Given the description of an element on the screen output the (x, y) to click on. 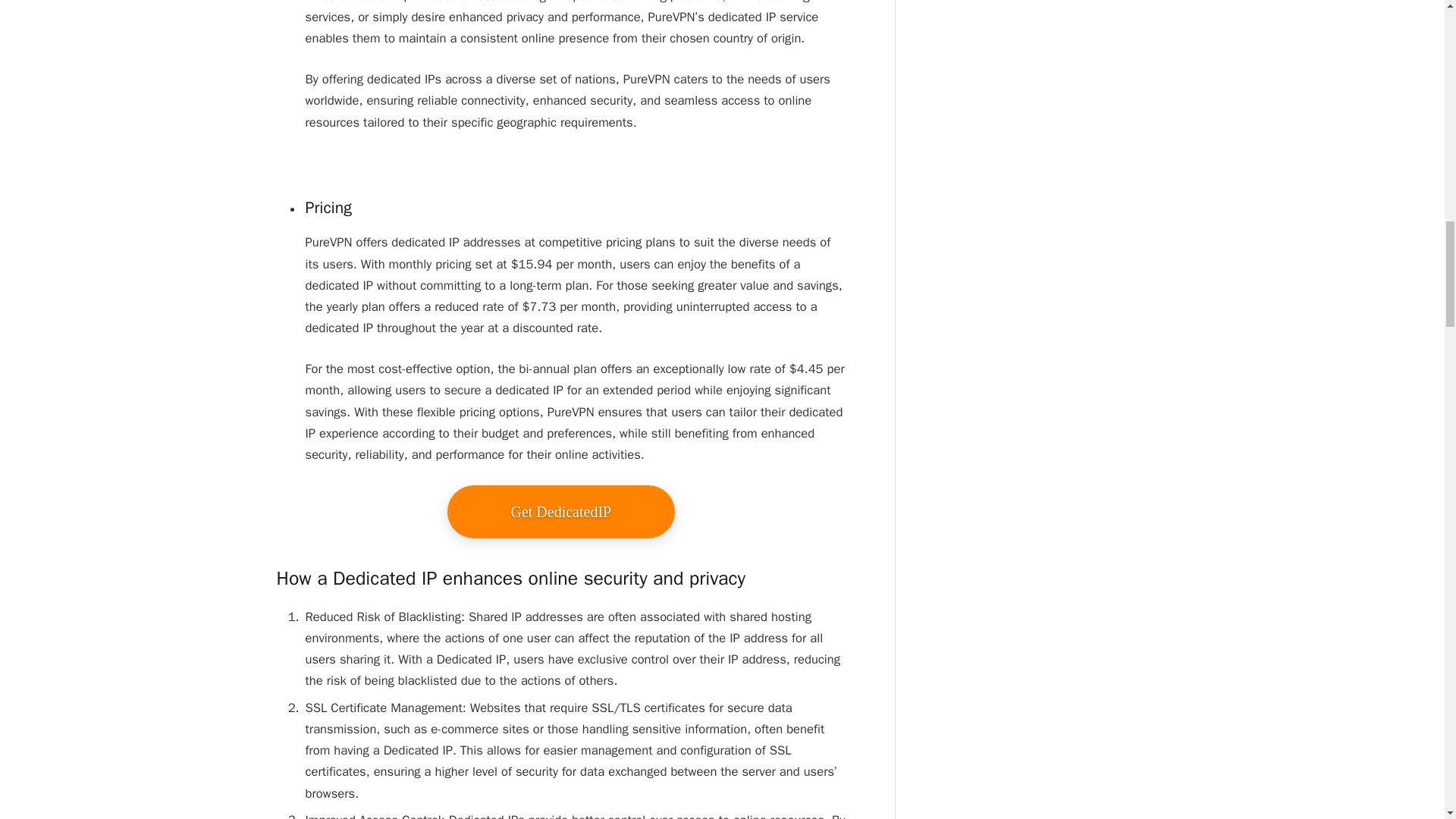
Get DedicatedIP (560, 511)
